Given the description of an element on the screen output the (x, y) to click on. 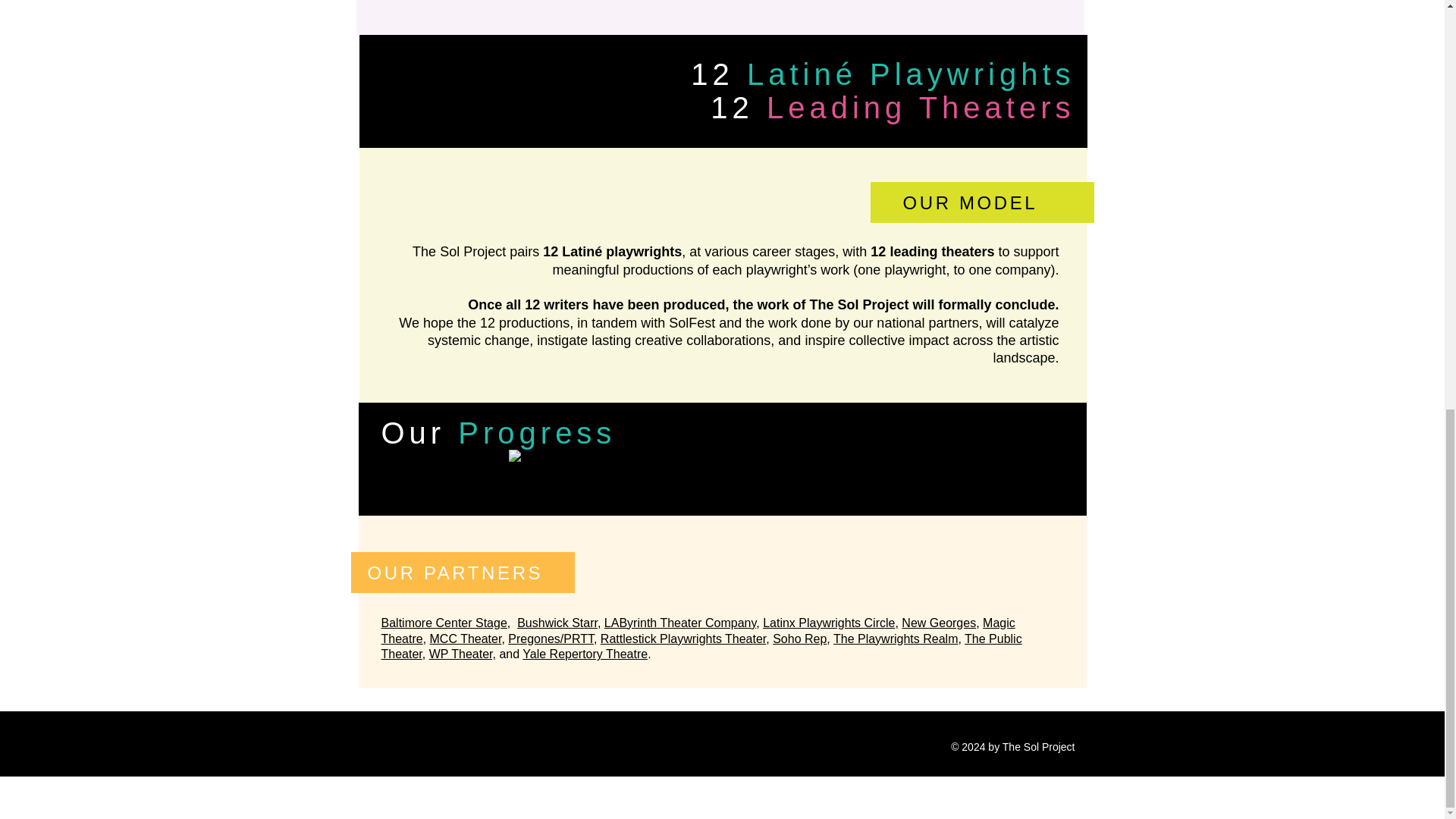
LAByrinth Theater Company (679, 622)
The Public Theater (701, 646)
New Georges (938, 622)
Baltimore Center Stage (443, 622)
Magic Theatre (697, 630)
WP Theater, (462, 653)
Latinx Playwrights Circle (828, 622)
MCC Theater (465, 638)
Soho Rep (800, 638)
The Playwrights Realm (895, 638)
Rattlestick Playwrights Theater (682, 638)
Bushwick Starr (556, 622)
